Given the description of an element on the screen output the (x, y) to click on. 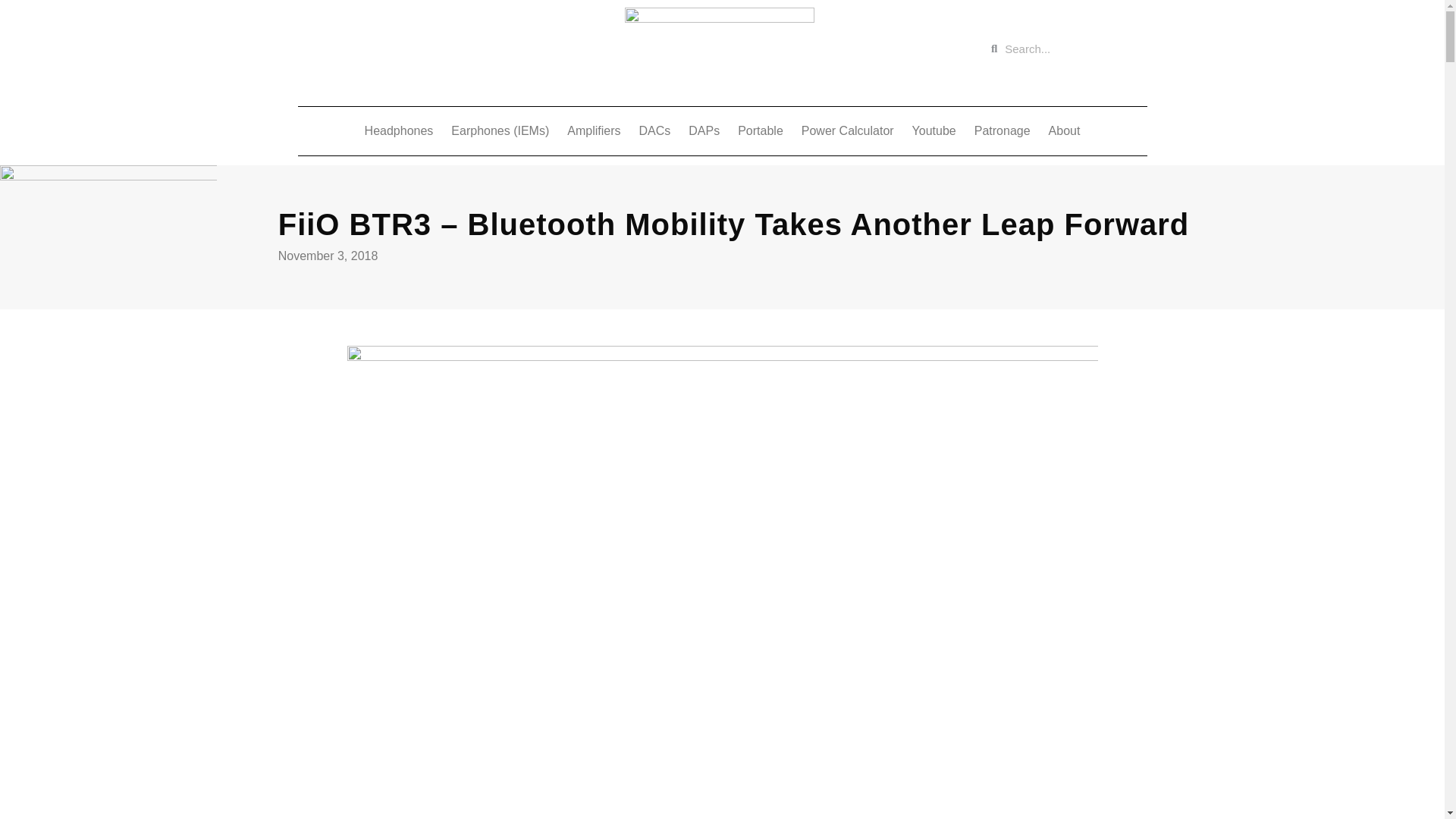
Headphones (398, 130)
About (1064, 130)
DACs (653, 130)
DAPs (704, 130)
Youtube (933, 130)
Portable (760, 130)
Power Calculator (847, 130)
Amplifiers (592, 130)
November 3, 2018 (328, 256)
Patronage (1002, 130)
